Given the description of an element on the screen output the (x, y) to click on. 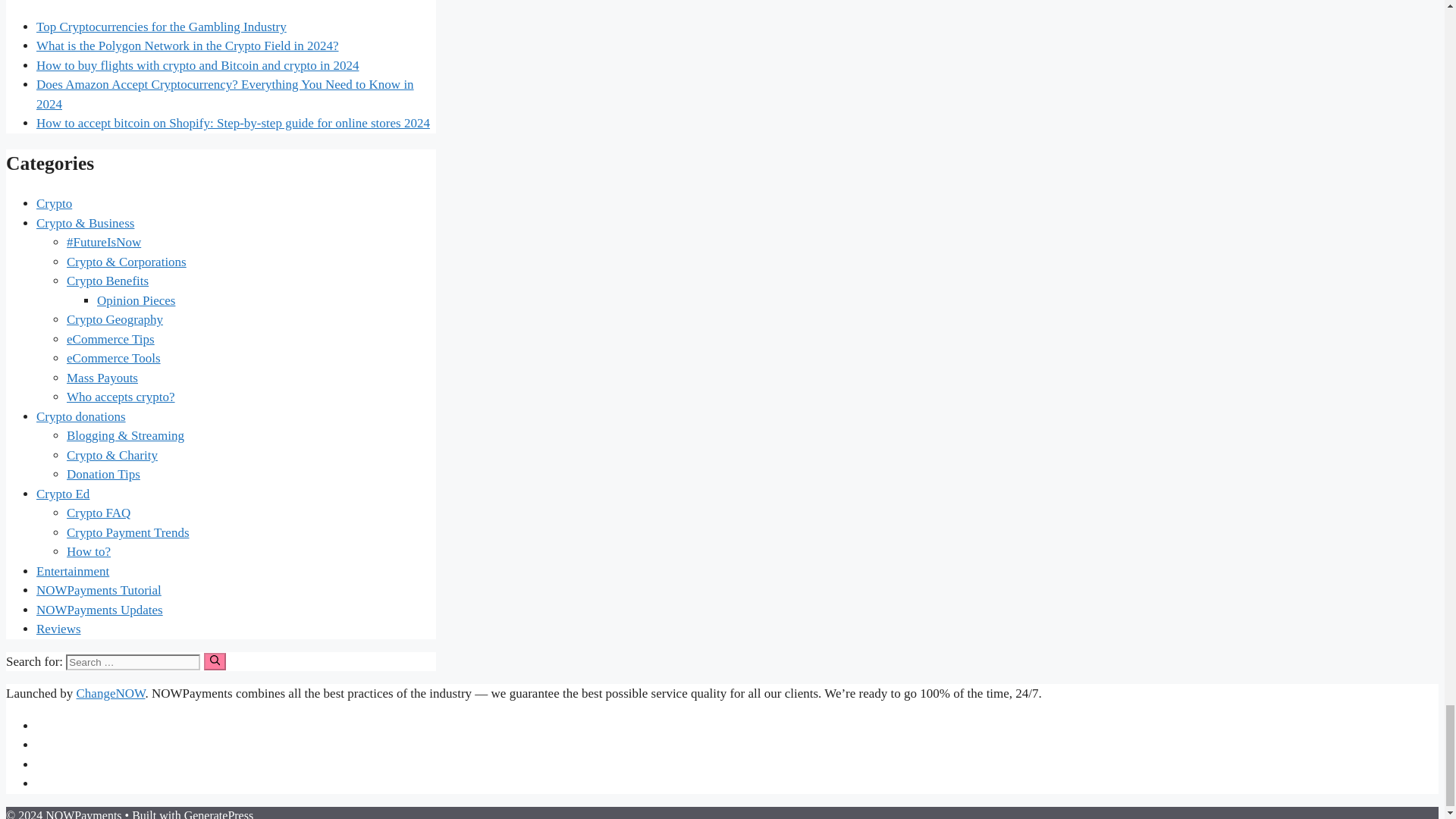
Search for: (132, 662)
